Given the description of an element on the screen output the (x, y) to click on. 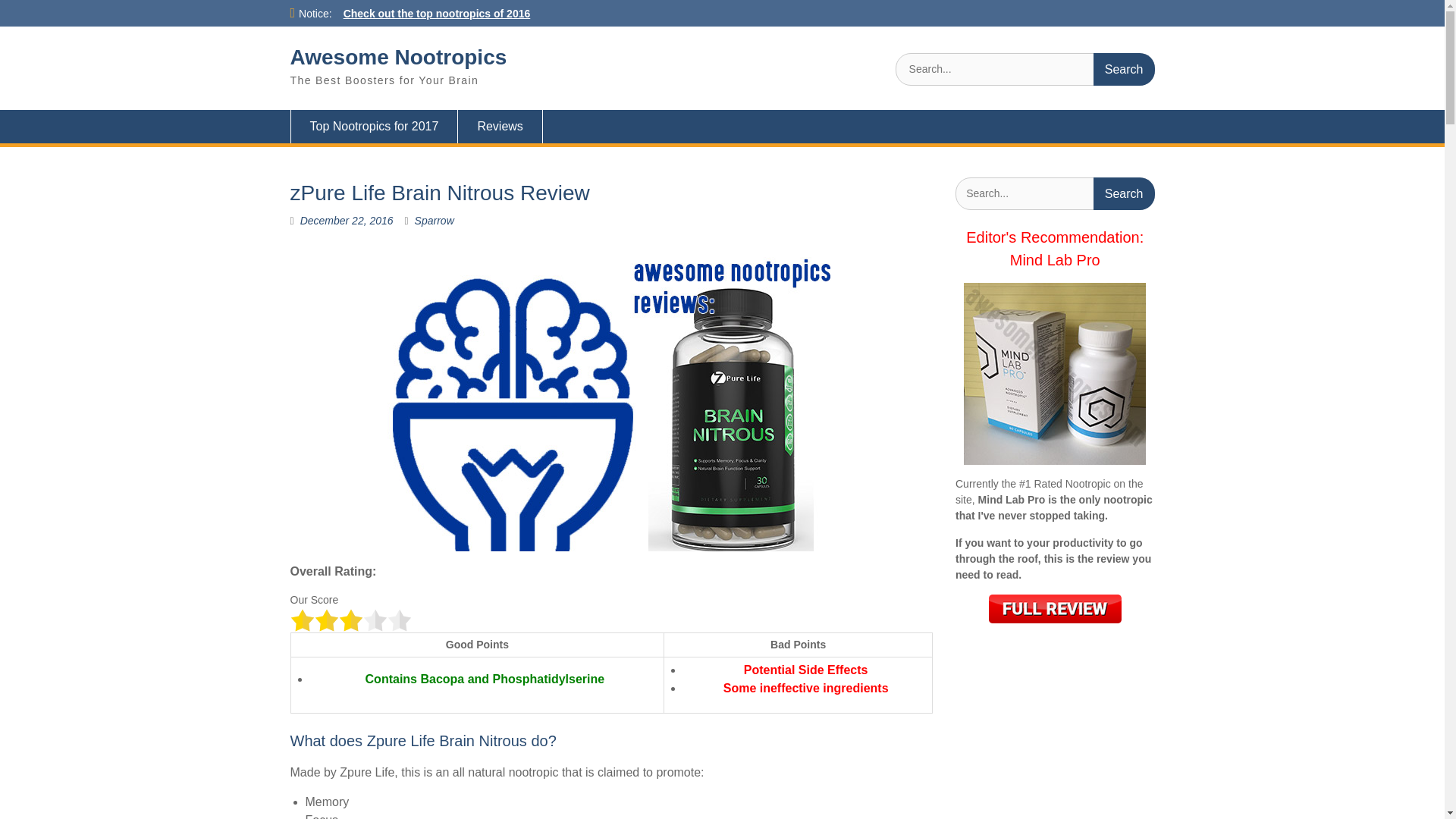
December 22, 2016 (346, 220)
Mind Lab Pro (1055, 259)
Awesome Nootropics (397, 56)
Search (1123, 193)
Editor's Recommendation: (1054, 237)
Search for: (1024, 69)
Search (1123, 69)
Search (1123, 69)
Reviews (499, 126)
Search (1123, 193)
